Given the description of an element on the screen output the (x, y) to click on. 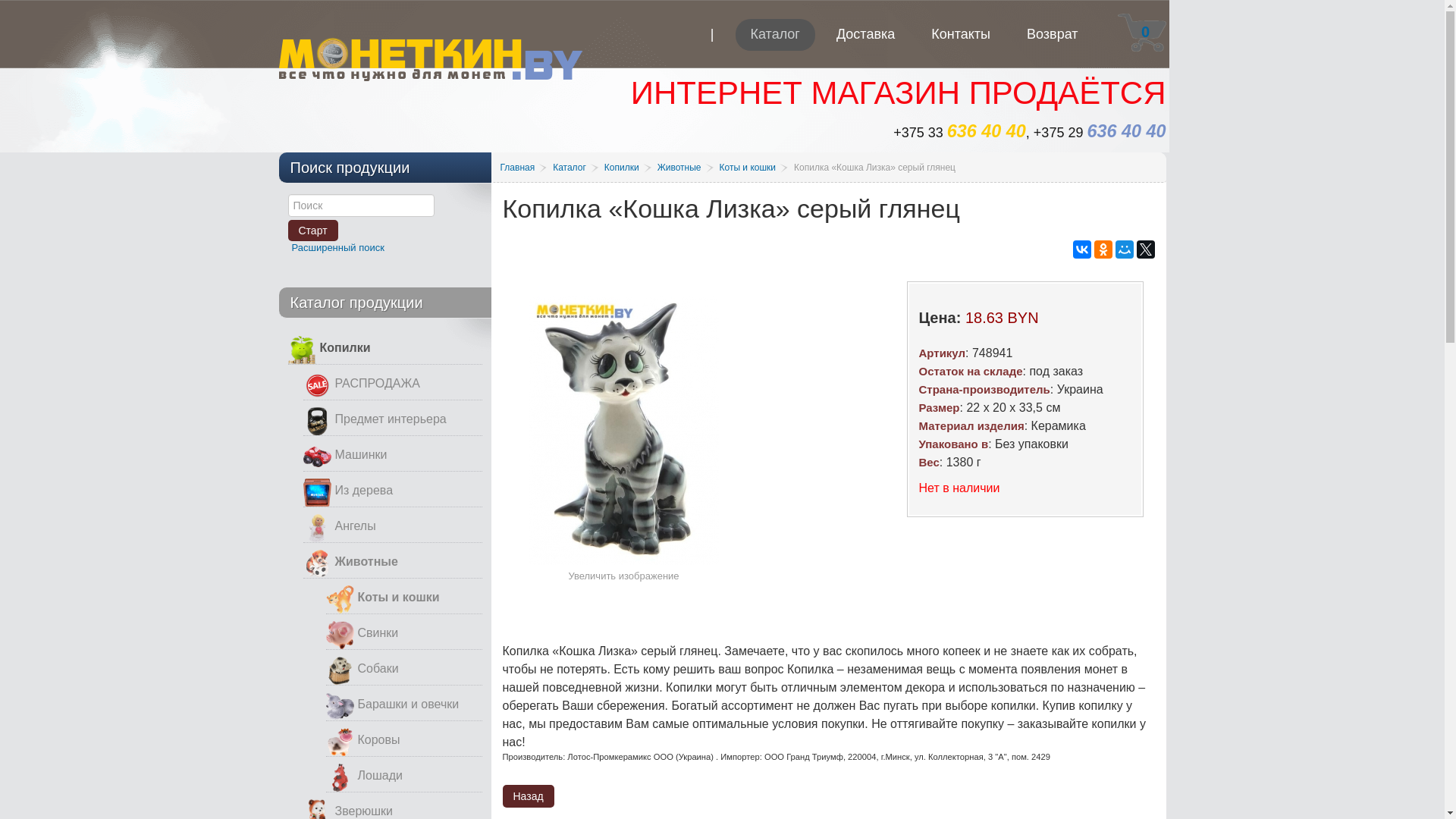
Twitter Element type: hover (1144, 249)
| Element type: text (712, 43)
0 Element type: text (1141, 32)
